Given the description of an element on the screen output the (x, y) to click on. 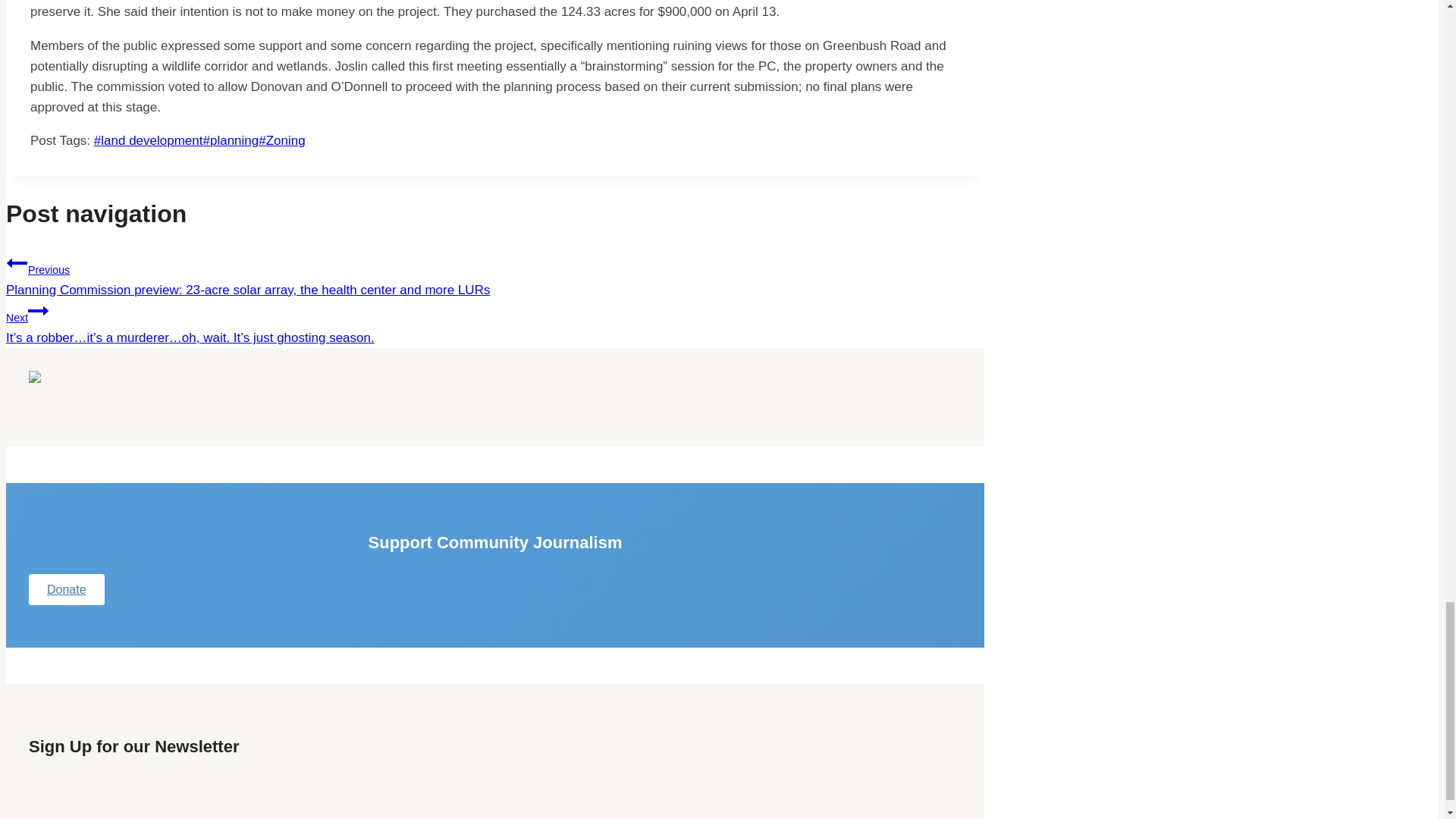
Previous (16, 262)
planning (230, 140)
land development (148, 140)
Continue (37, 310)
Zoning (281, 140)
